Given the description of an element on the screen output the (x, y) to click on. 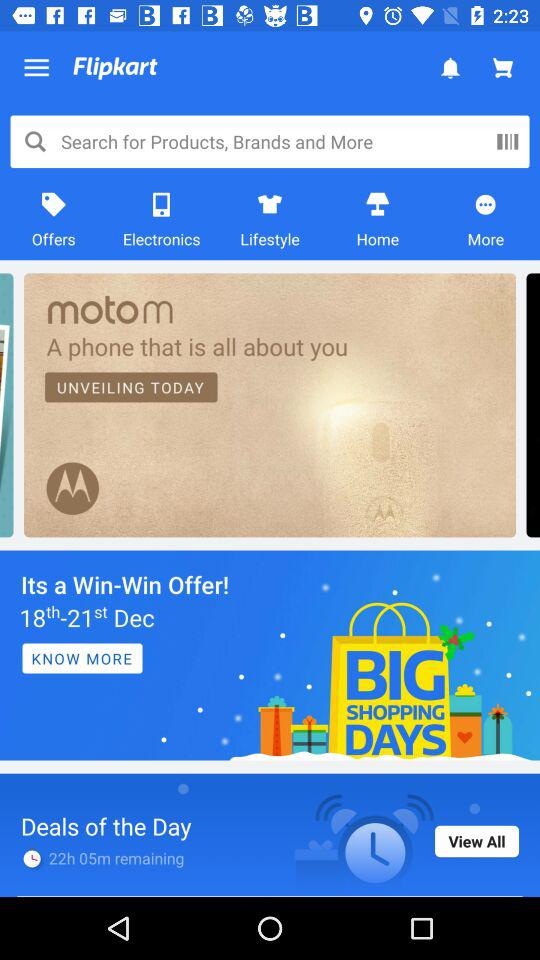
go to page (270, 655)
